Given the description of an element on the screen output the (x, y) to click on. 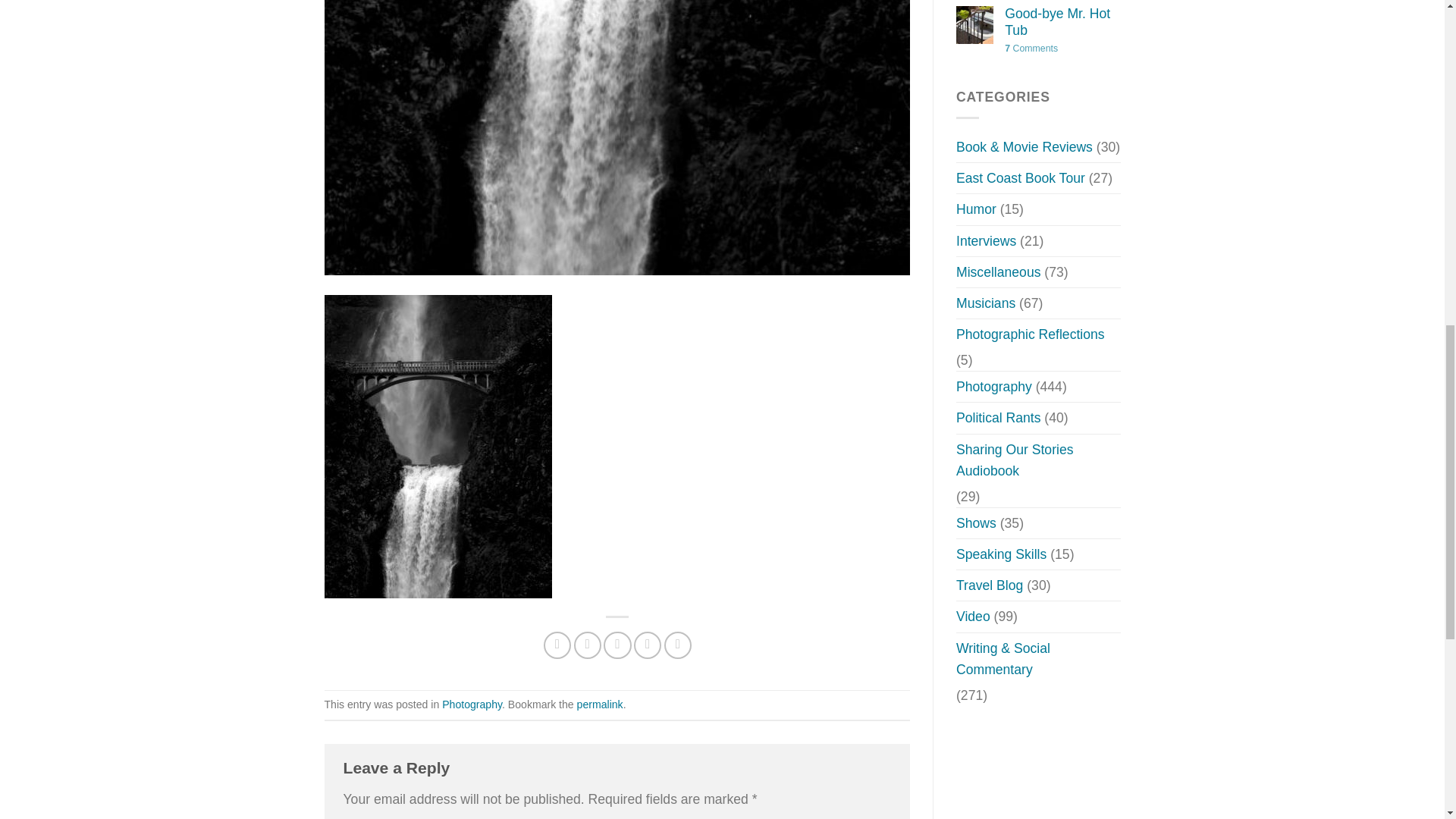
Share on LinkedIn (677, 645)
Pin on Pinterest (647, 645)
Permalink to DSCN0052 copy.jpg (599, 704)
Good-bye Mr. Hot Tub (1061, 22)
Email to a Friend (617, 645)
Photography (472, 704)
permalink (599, 704)
Share on Facebook (556, 645)
Share on Twitter (587, 645)
